Given the description of an element on the screen output the (x, y) to click on. 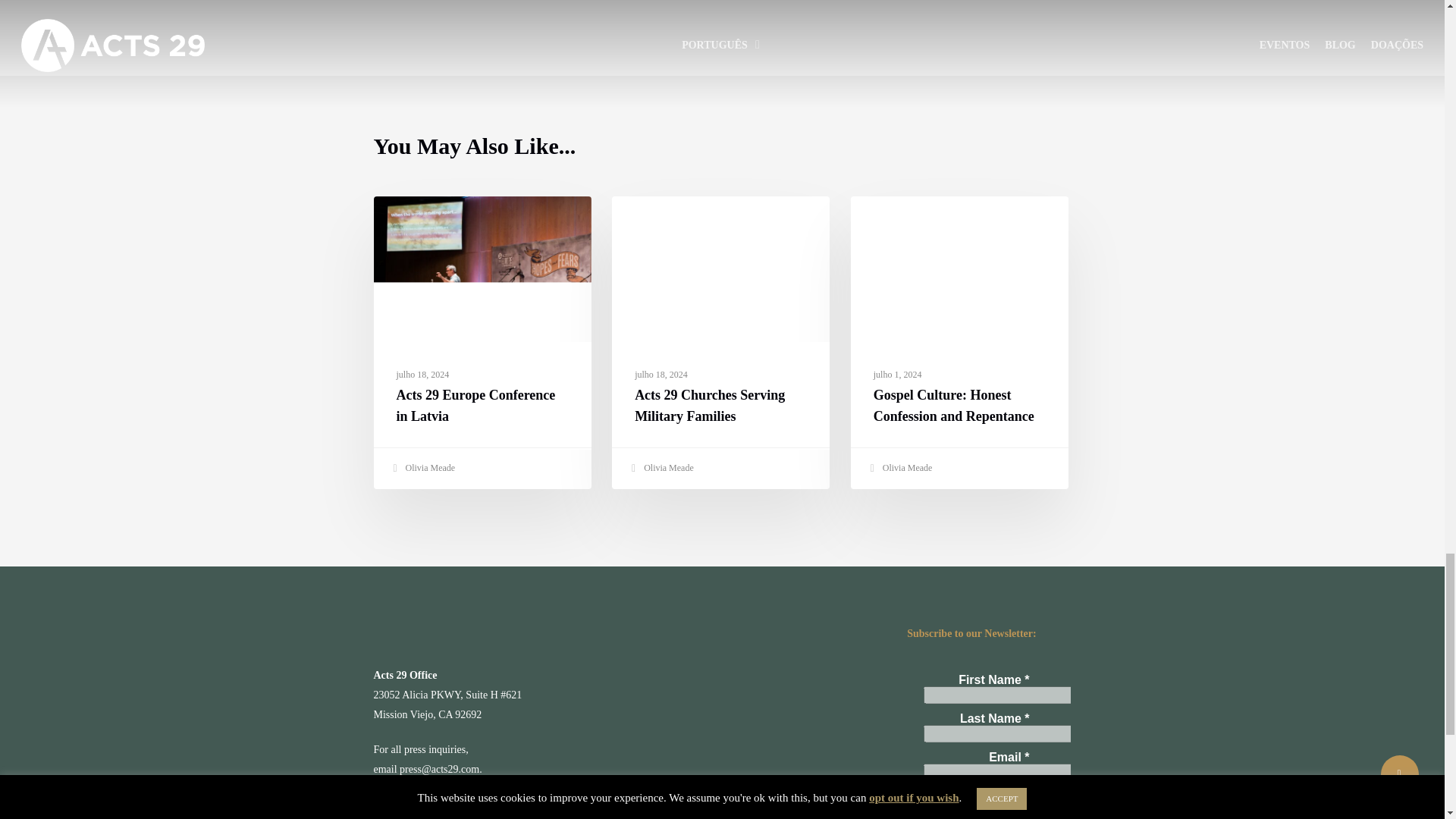
Olivia Meade (899, 468)
Olivia Meade (422, 468)
Olivia Meade (660, 468)
